Given the description of an element on the screen output the (x, y) to click on. 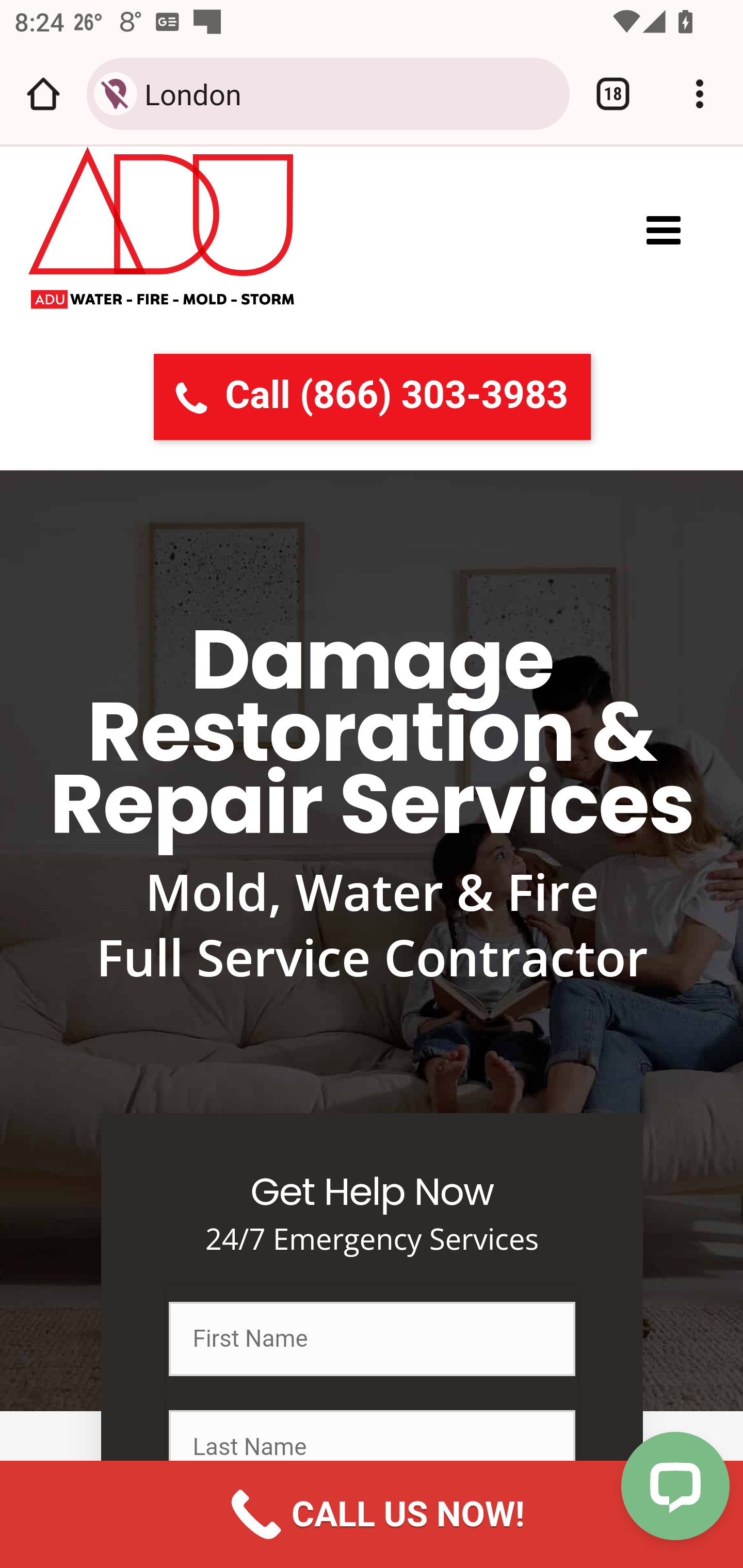
Open the home page (43, 93)
Connection is secure (115, 93)
Switch or close tabs (612, 93)
Customize and control Google Chrome (699, 93)
London (349, 92)
All Dry USA Logo (162, 235)
call (866) 303-3983  Call  (866) 303-3983 (371, 395)
Open LiveChat chat widget (676, 1486)
CALL US NOW! (371, 1513)
